Given the description of an element on the screen output the (x, y) to click on. 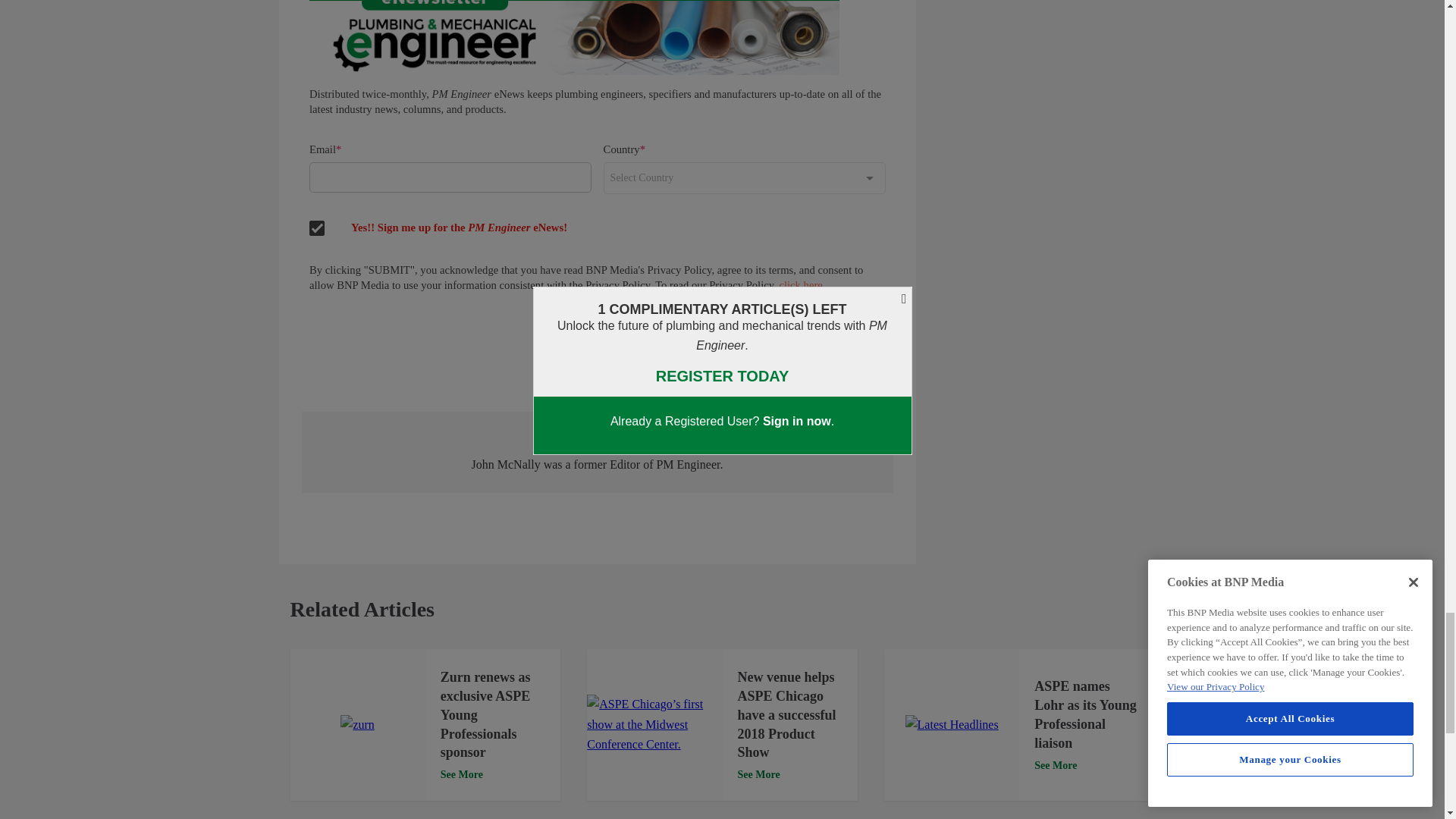
Latest Headlines (951, 724)
